Given the description of an element on the screen output the (x, y) to click on. 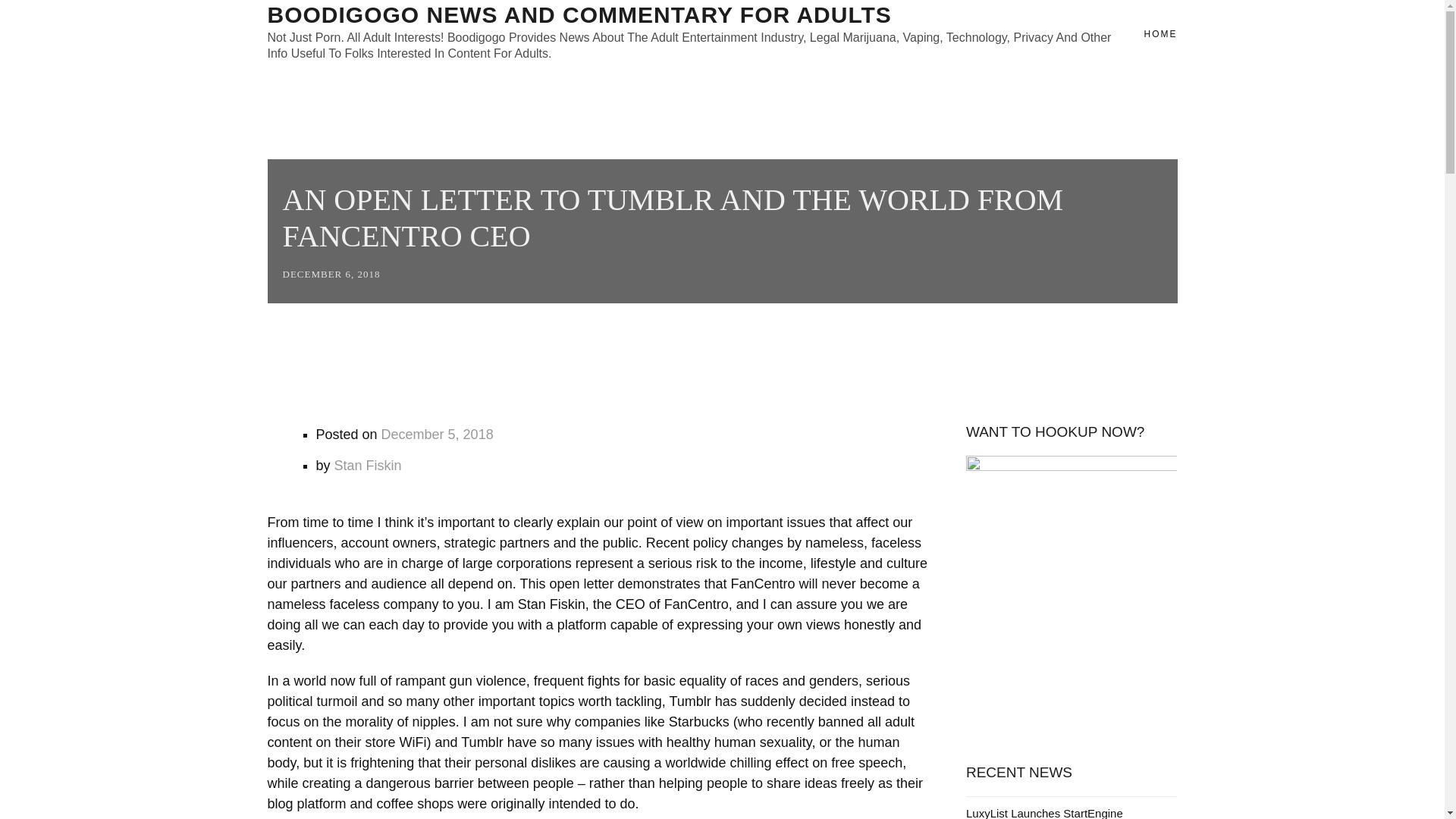
Search (34, 20)
Stan Fiskin (367, 465)
DECEMBER 6, 2018 (331, 274)
December 5, 2018 (437, 434)
BOODIGOGO NEWS AND COMMENTARY FOR ADULTS (578, 14)
